Given the description of an element on the screen output the (x, y) to click on. 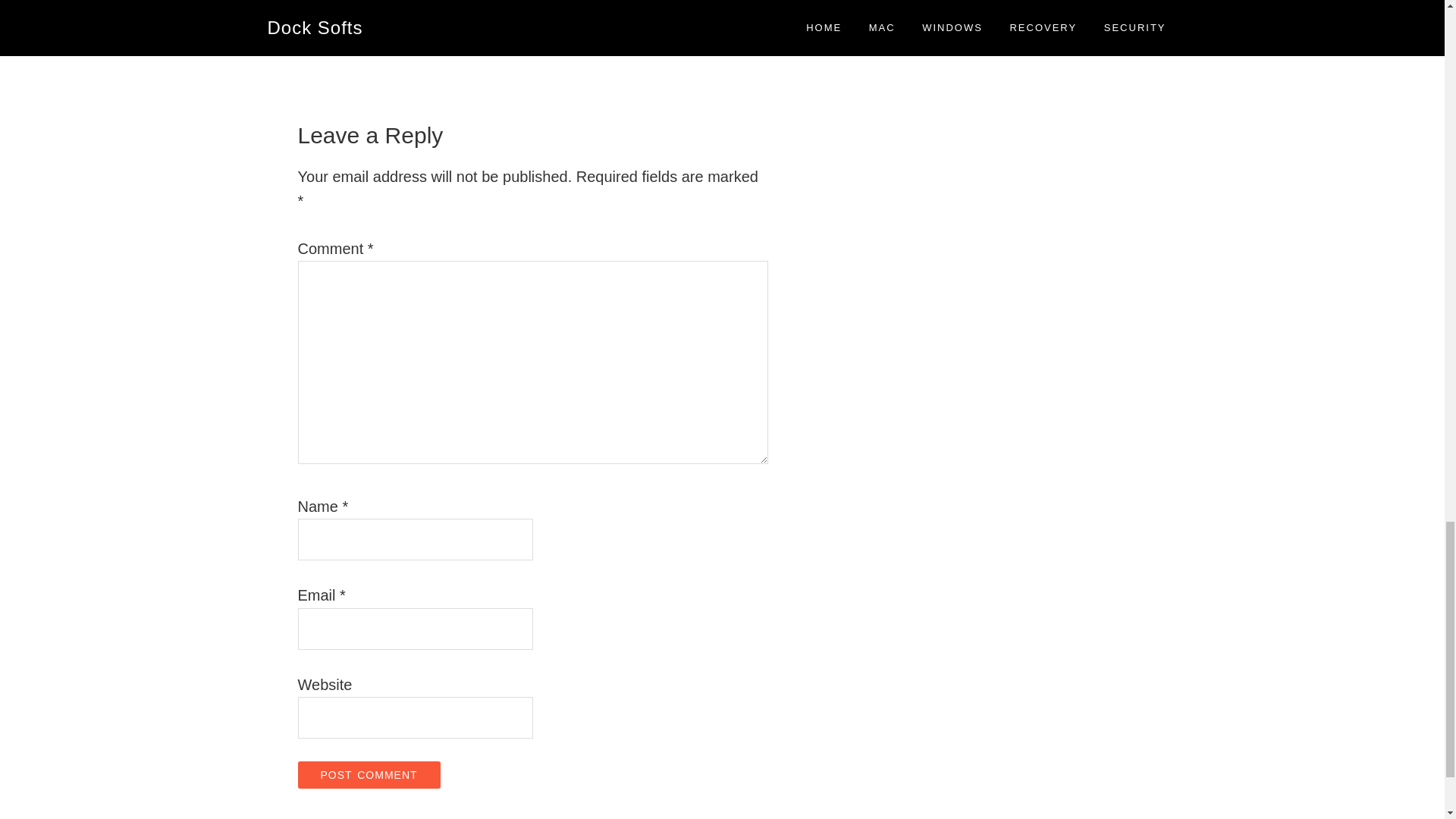
Post Comment (368, 774)
Multimedia (365, 6)
Post Comment (368, 774)
